Given the description of an element on the screen output the (x, y) to click on. 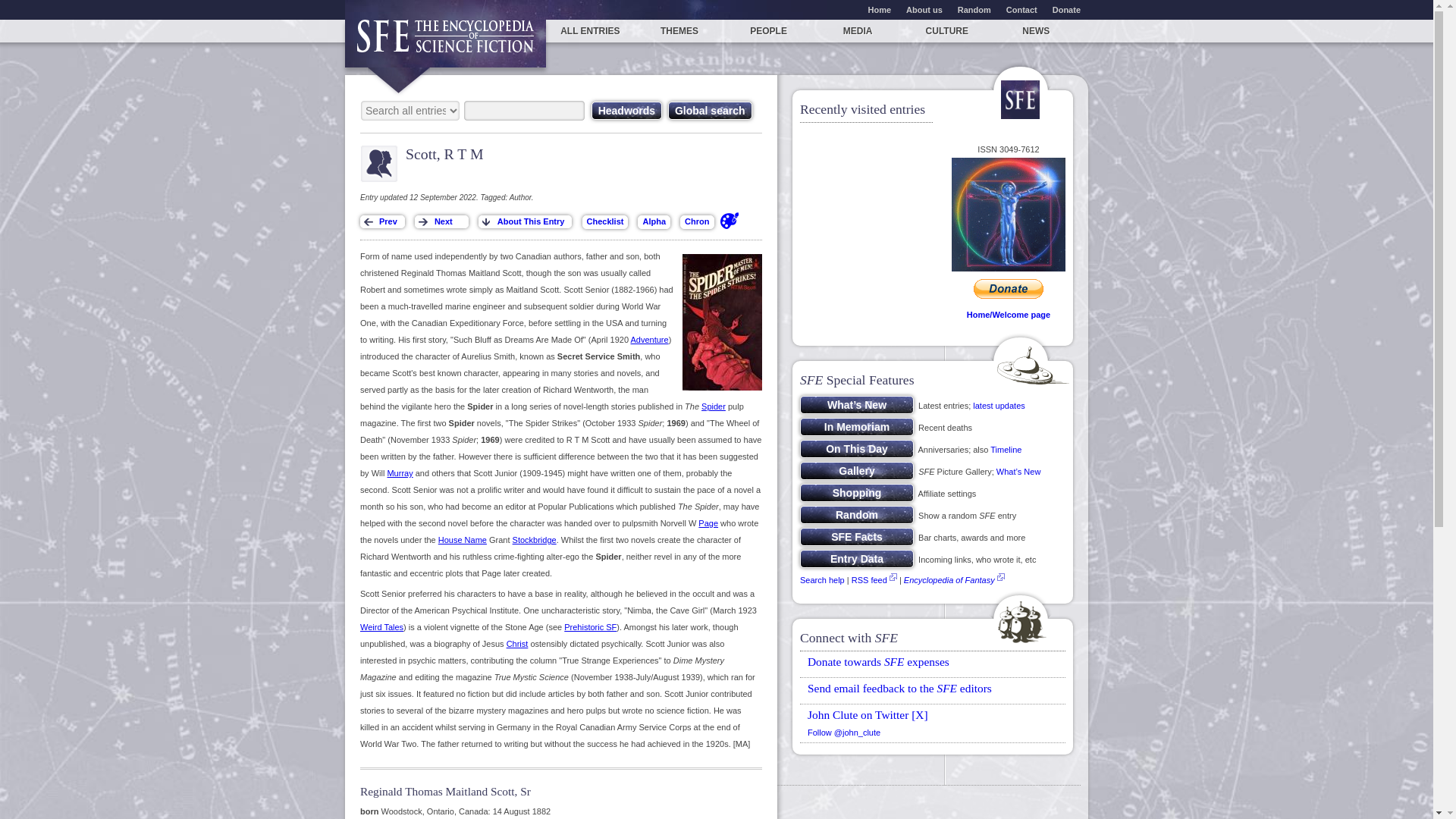
Contact (1021, 9)
Home page (445, 43)
NEWS (1036, 30)
Entry Data (856, 558)
Prev (381, 221)
latest updates (998, 405)
Headwords (626, 110)
Shopping (856, 493)
Global search (710, 110)
Weird Tales (381, 626)
Prehistoric SF (589, 626)
House Name (462, 539)
On This Day (856, 448)
THEMES (678, 30)
Random (856, 515)
